Given the description of an element on the screen output the (x, y) to click on. 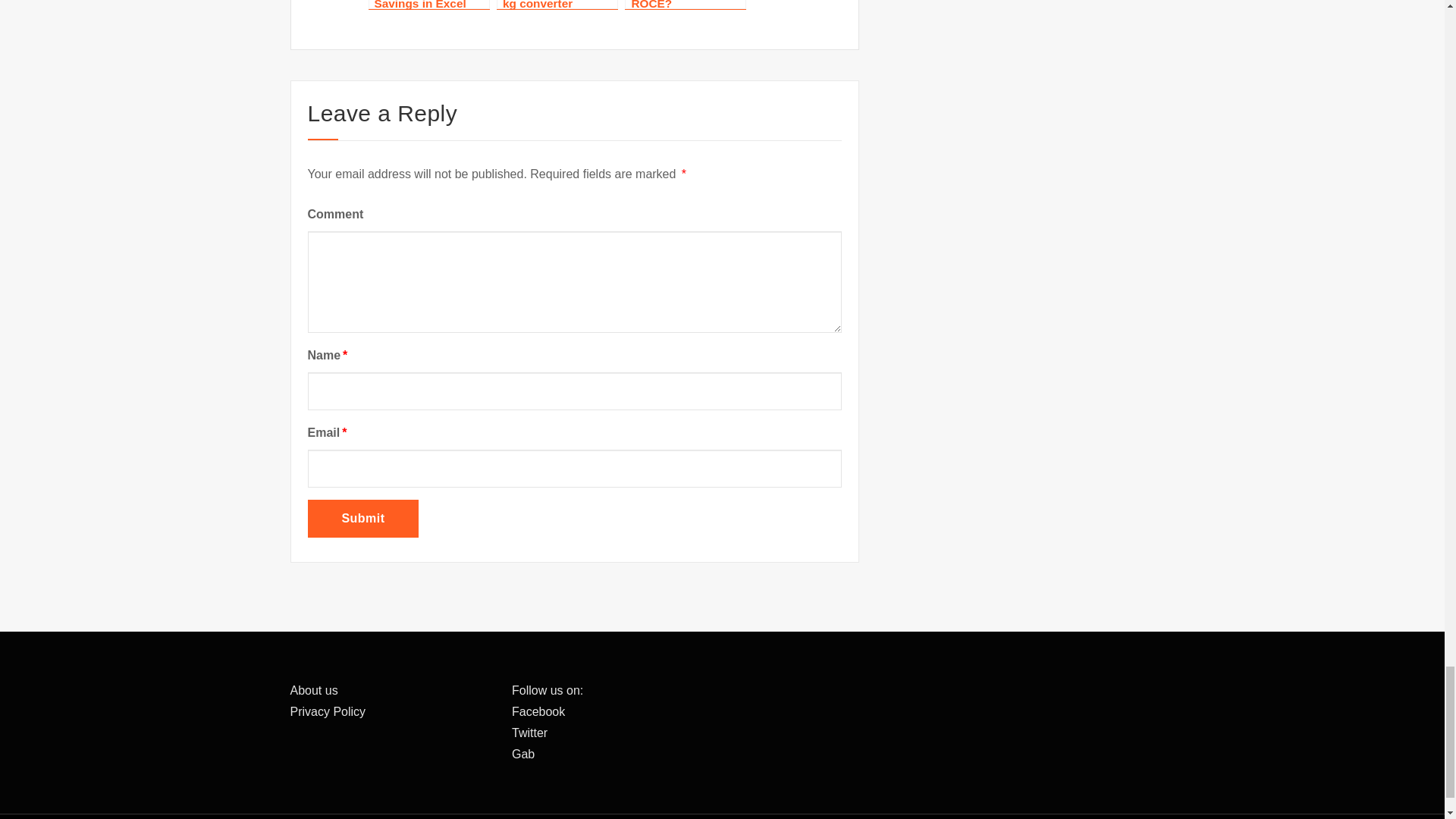
Submit (363, 518)
Gab (523, 753)
Gab (523, 753)
How to calculate ROCE? (684, 4)
How to Calculate Savings in Excel (428, 4)
How to Calculate Savings in Excel (428, 4)
Twitter (529, 732)
Privacy Policy (327, 711)
How to calculate ROCE? (684, 4)
Kg to lbs and lbs to kg converter (556, 4)
Kg to lbs and lbs to kg converter (556, 4)
Submit (363, 518)
Twitter (529, 732)
Facebook (538, 711)
About us (313, 689)
